Given the description of an element on the screen output the (x, y) to click on. 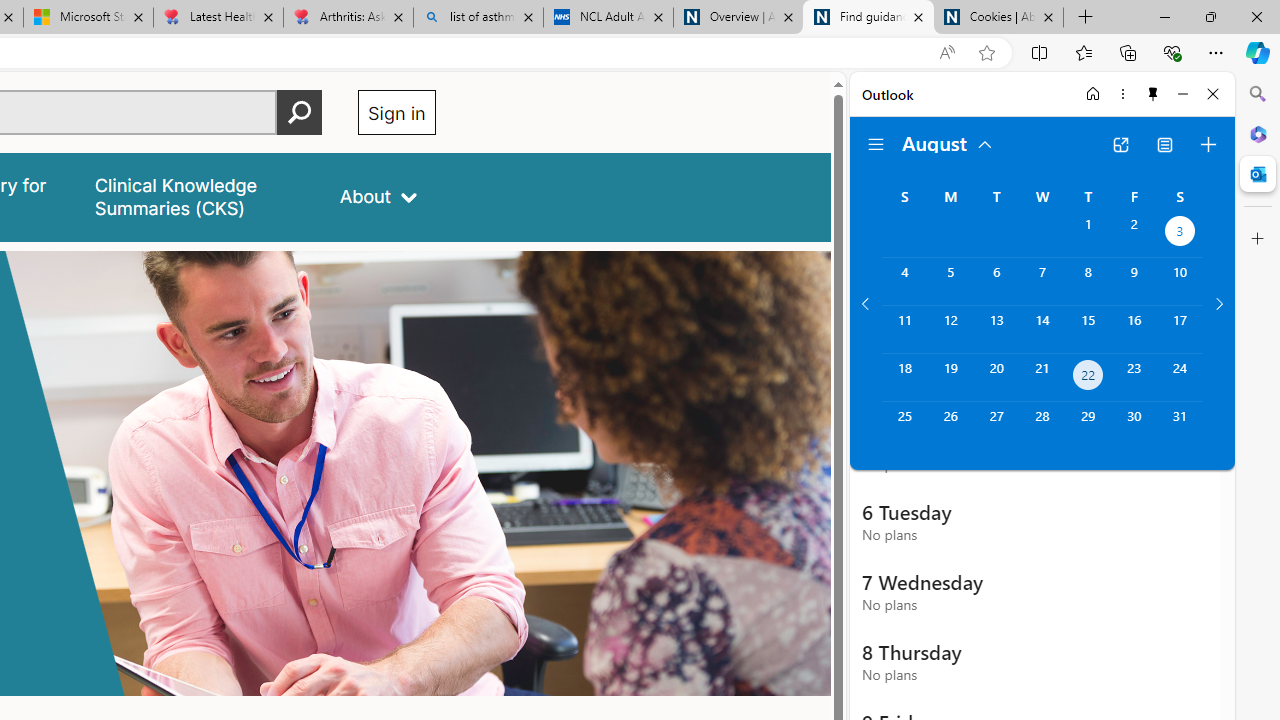
View Switcher. Current view is Agenda view (1165, 144)
Saturday, August 3, 2024. Date selected.  (1180, 233)
About (378, 196)
Unpin side pane (1153, 93)
Tuesday, August 6, 2024.  (996, 281)
Tuesday, August 13, 2024.  (996, 329)
list of asthma inhalers uk - Search (477, 17)
Thursday, August 15, 2024.  (1088, 329)
Friday, August 16, 2024.  (1134, 329)
About (378, 196)
Monday, August 19, 2024.  (950, 377)
Wednesday, August 28, 2024.  (1042, 425)
Microsoft Start (88, 17)
